Given the description of an element on the screen output the (x, y) to click on. 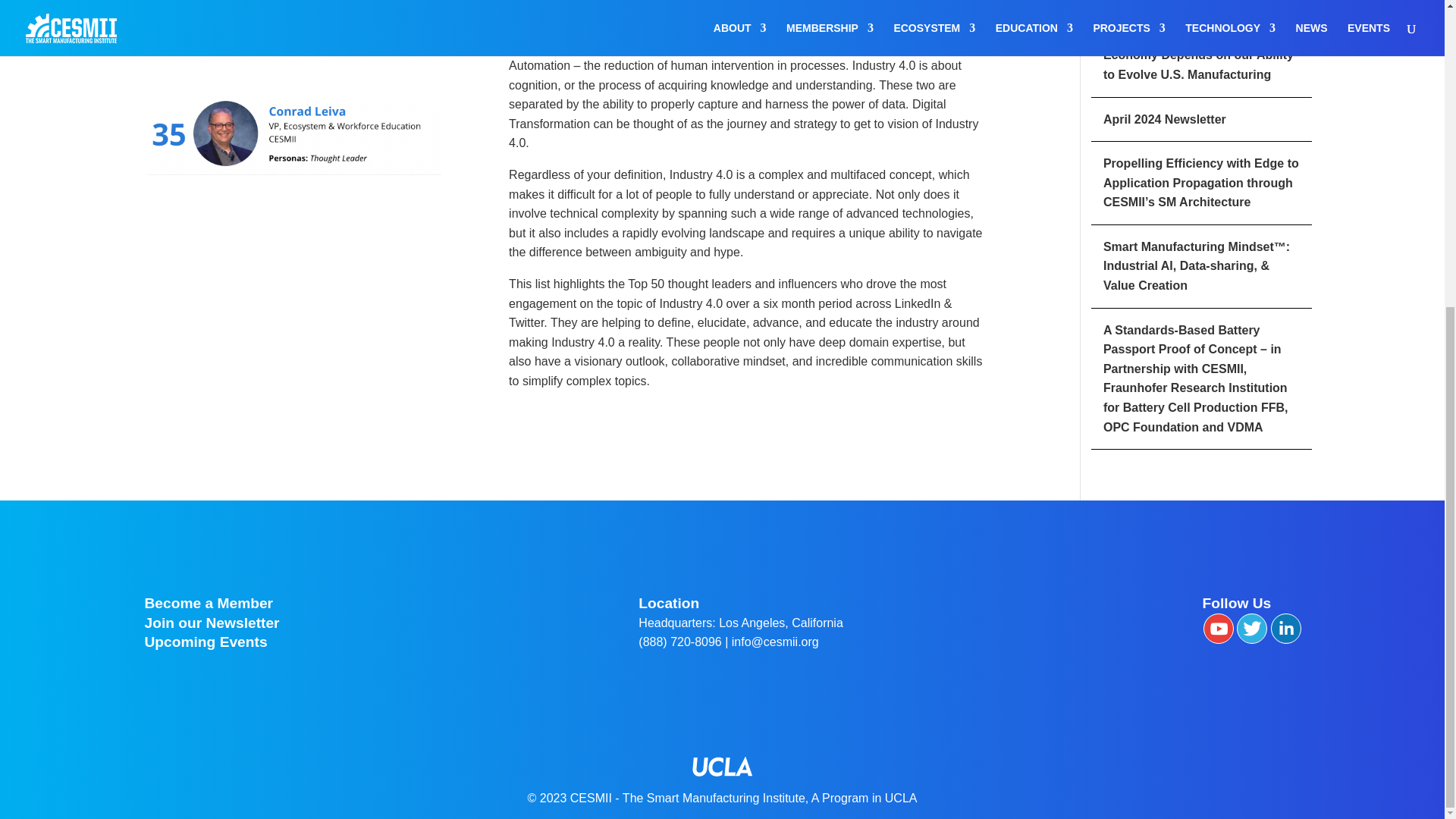
Screen Shot 2023-03-21 at 10.52.38 AM (292, 30)
Screen Shot 2023-03-21 at 10.52.21 AM (292, 134)
